Given the description of an element on the screen output the (x, y) to click on. 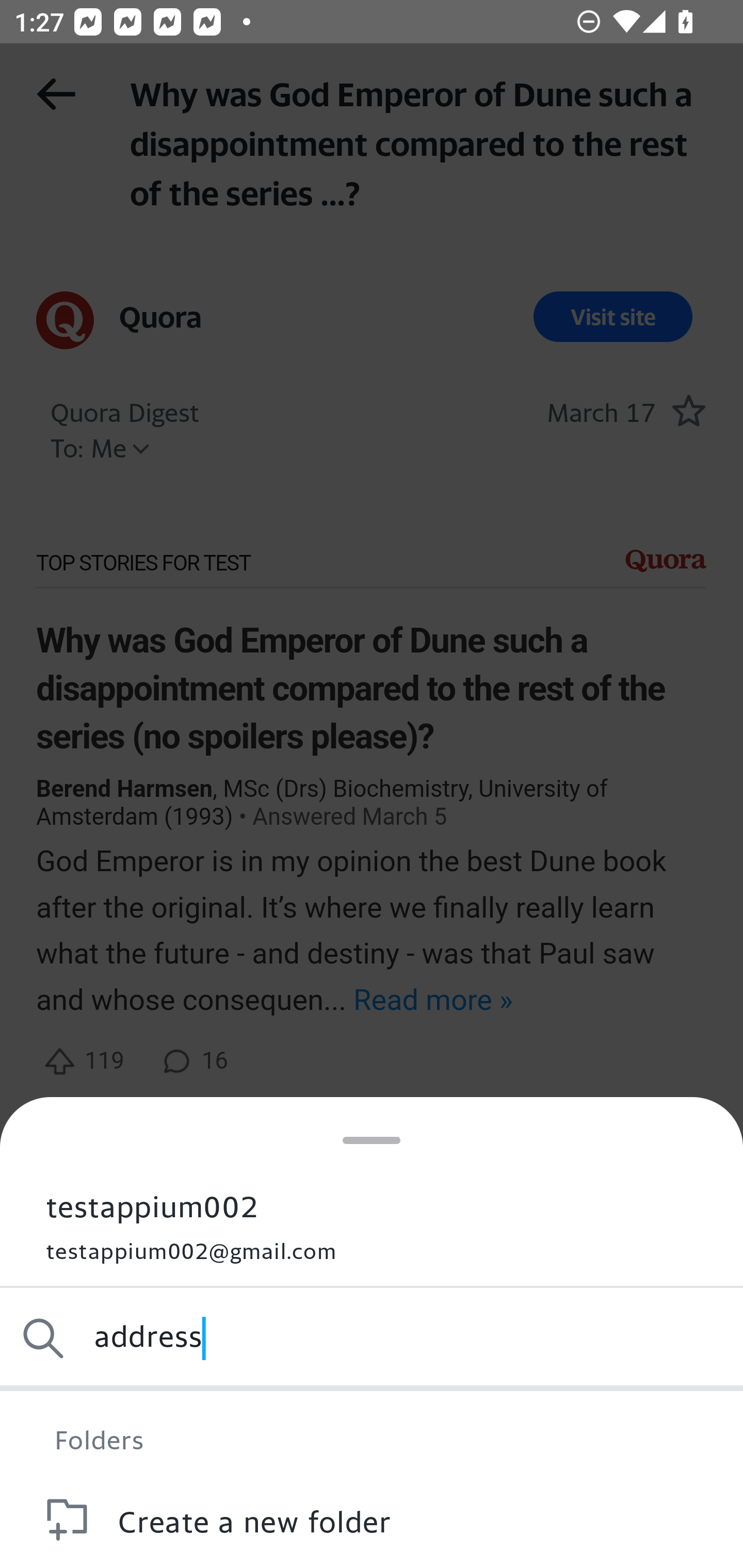
address (371, 1338)
Create a new folder (371, 1519)
